Given the description of an element on the screen output the (x, y) to click on. 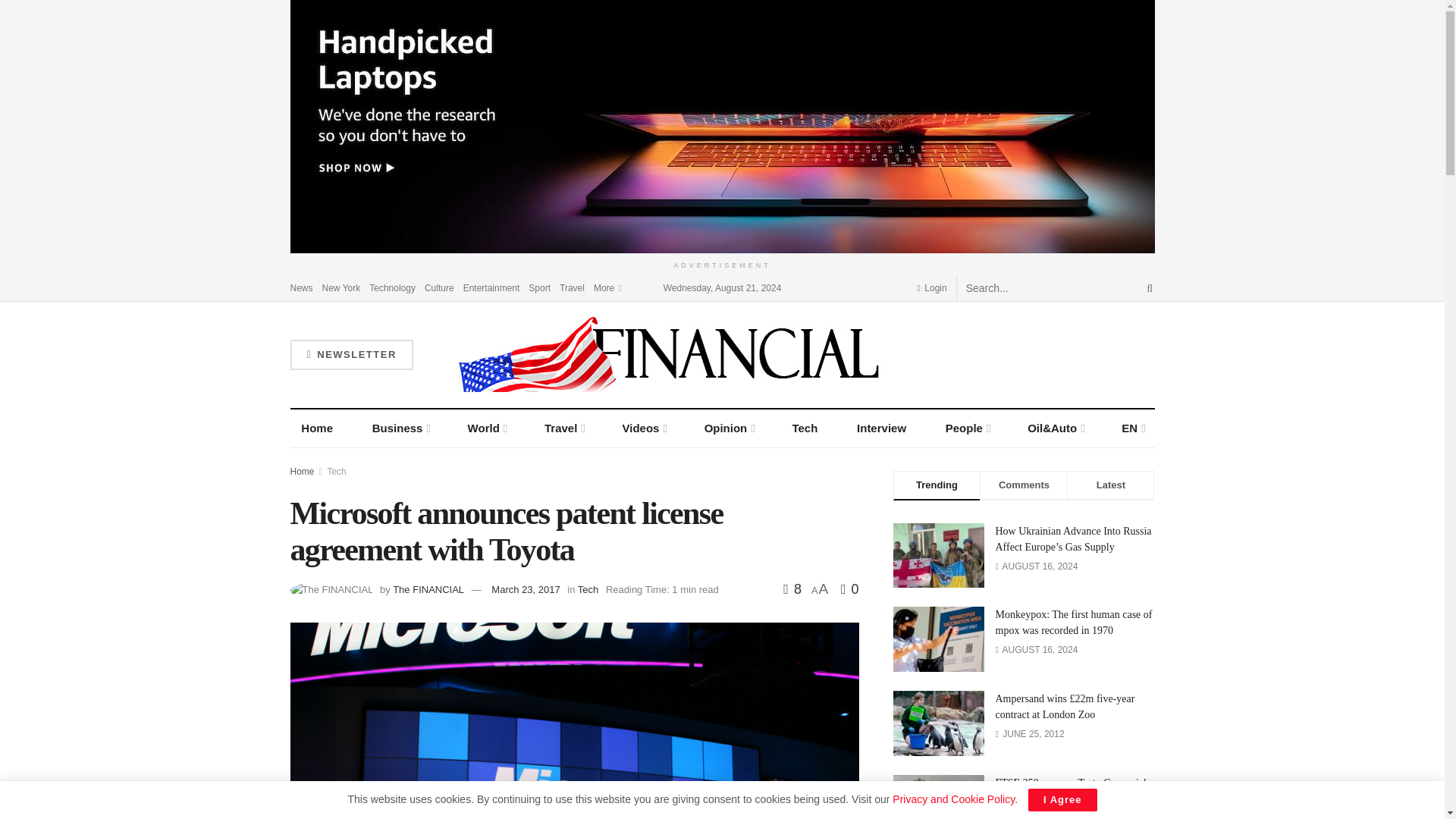
Culture (439, 287)
Travel (572, 287)
Business (400, 428)
New York (341, 287)
Entertainment (491, 287)
More (607, 287)
Home (316, 428)
World (486, 428)
NEWSLETTER (350, 354)
Technology (391, 287)
